Given the description of an element on the screen output the (x, y) to click on. 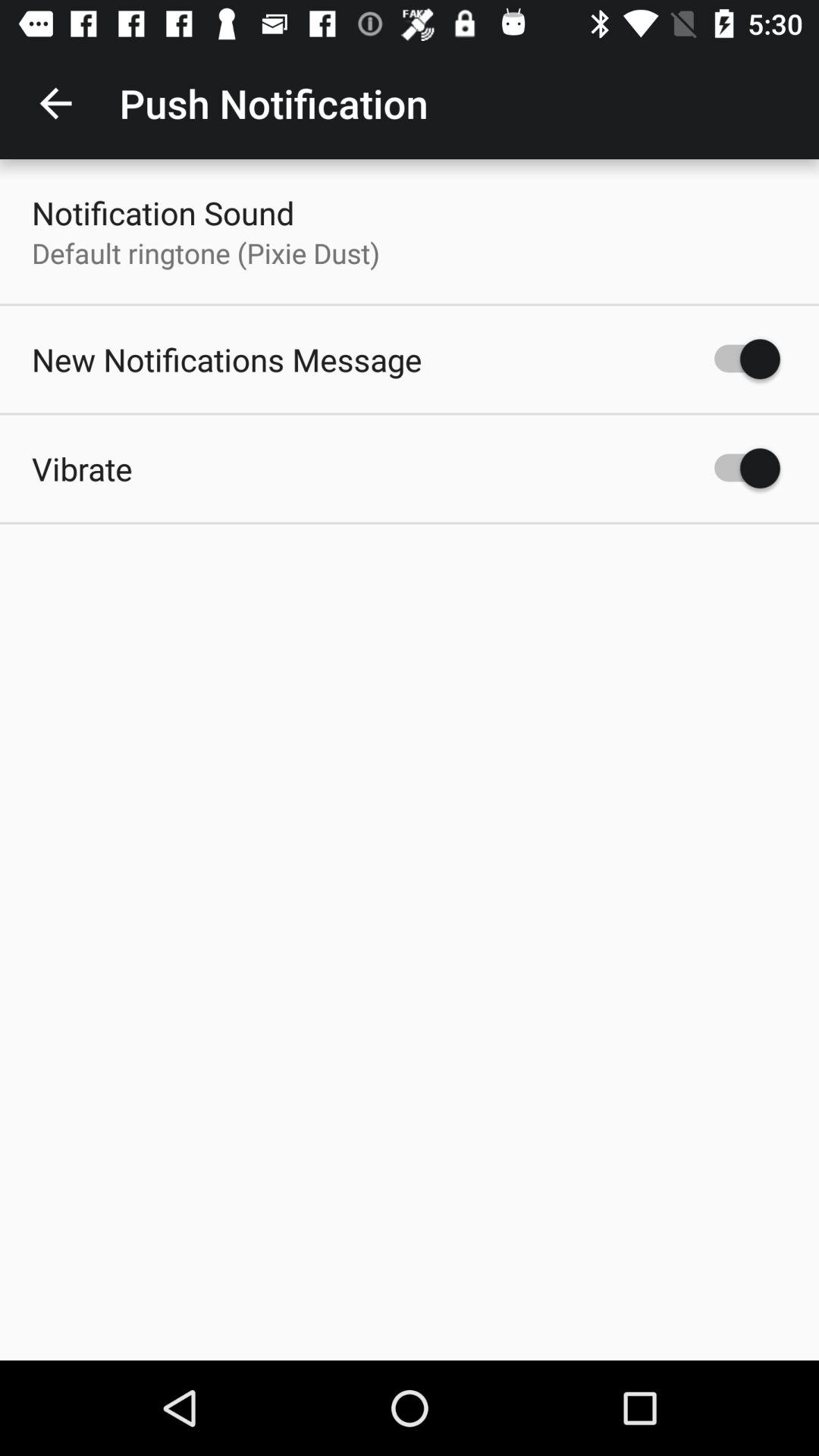
select the icon below notification sound icon (205, 252)
